Given the description of an element on the screen output the (x, y) to click on. 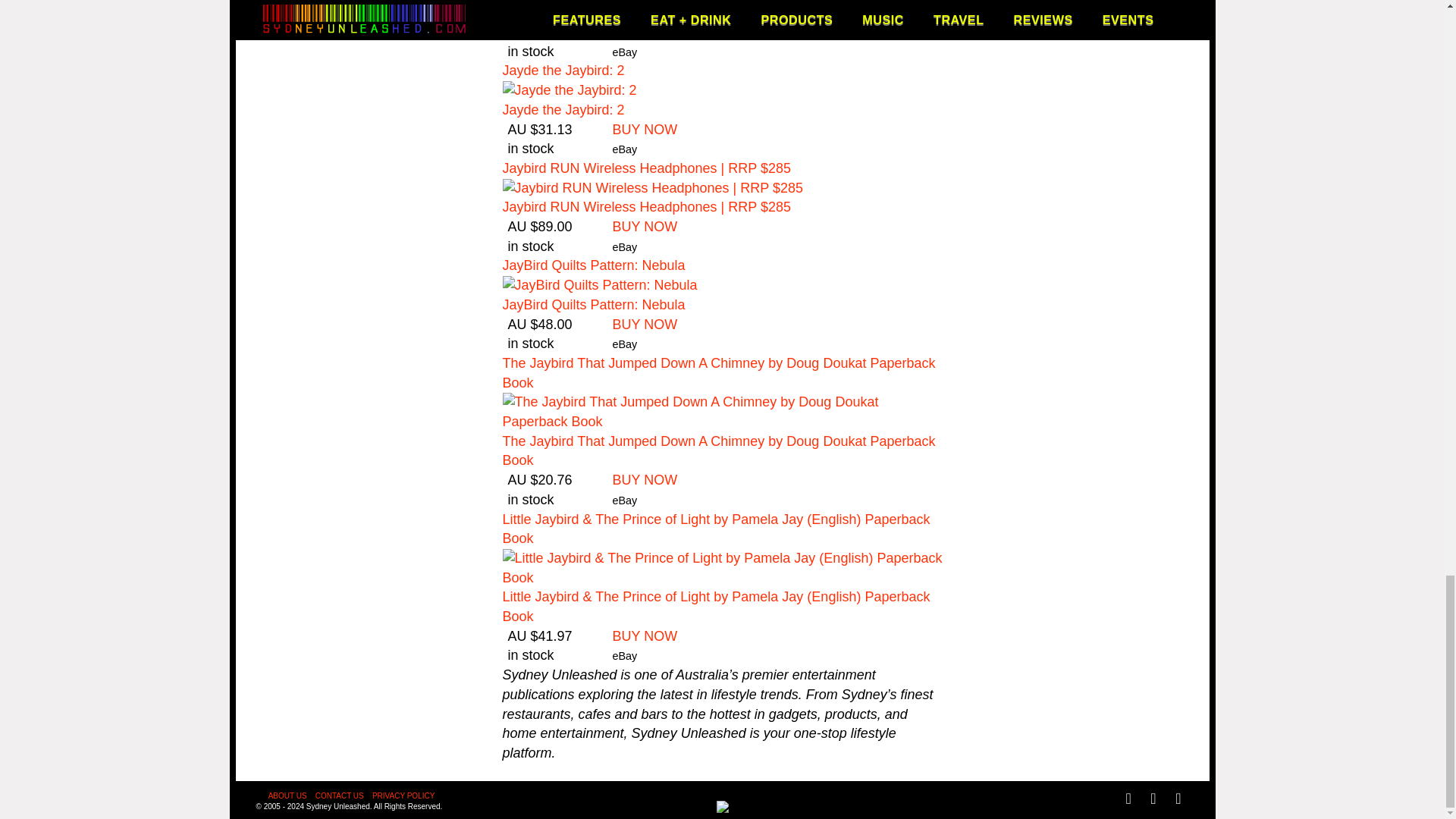
BUY NOW (645, 324)
Jaybird Freedom Wireless Red Earphones (630, 11)
Jayde the Jaybird: 2 (563, 70)
BUY NOW (645, 226)
JayBird Quilts Pattern: Nebula (593, 304)
Last updated on June 17, 2024 12:23 am (557, 148)
Last updated on June 17, 2024 12:23 am (557, 500)
Jayde the Jaybird: 2 (563, 109)
Last updated on June 17, 2024 12:23 am (557, 655)
Last updated on June 17, 2024 12:23 am (557, 52)
